Given the description of an element on the screen output the (x, y) to click on. 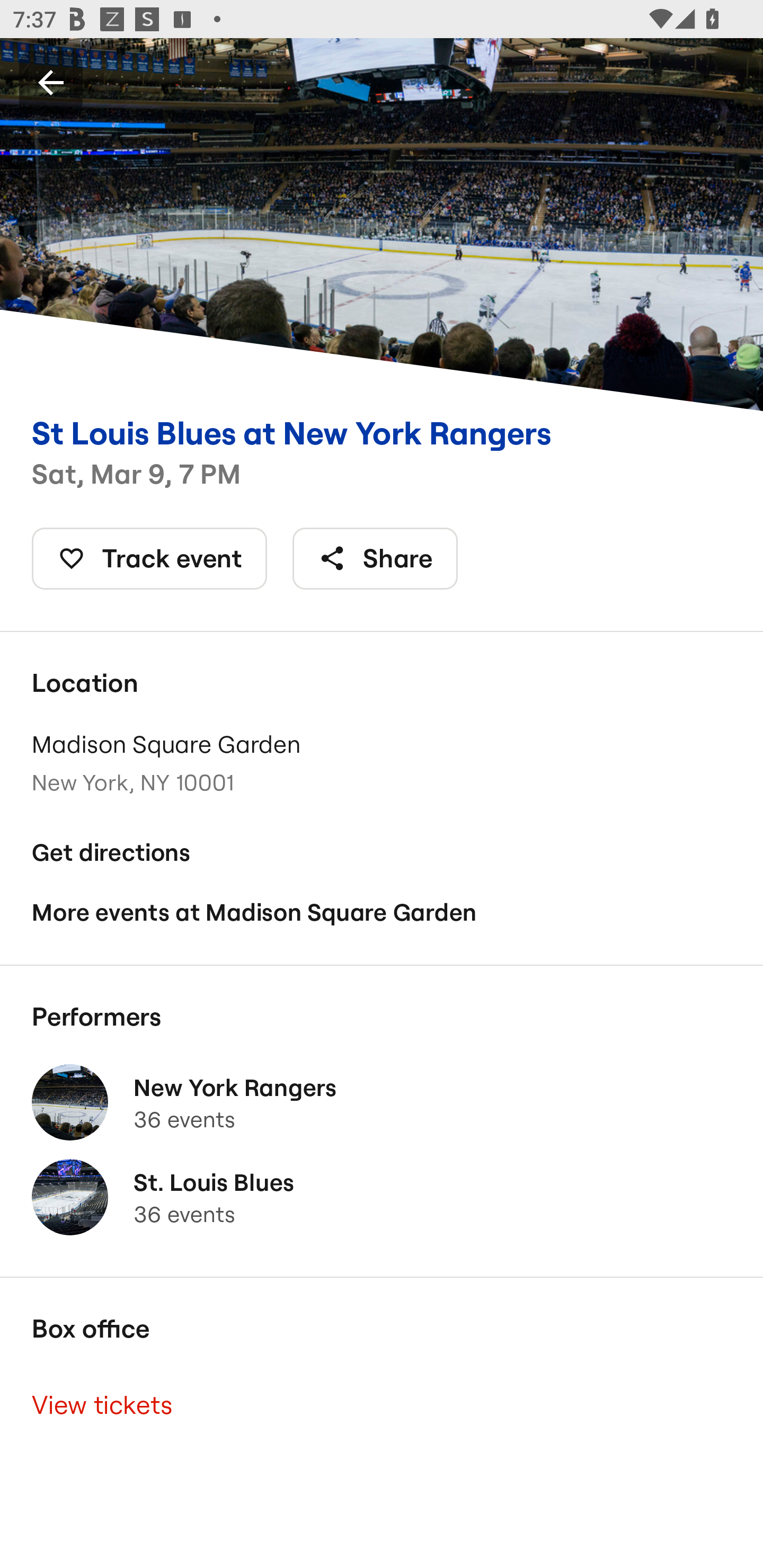
Back (50, 81)
Track event (149, 557)
Share (374, 557)
Get directions (381, 852)
More events at Madison Square Garden (381, 912)
New York Rangers 36 events (381, 1102)
St. Louis Blues 36 events (381, 1196)
View tickets (381, 1405)
